Given the description of an element on the screen output the (x, y) to click on. 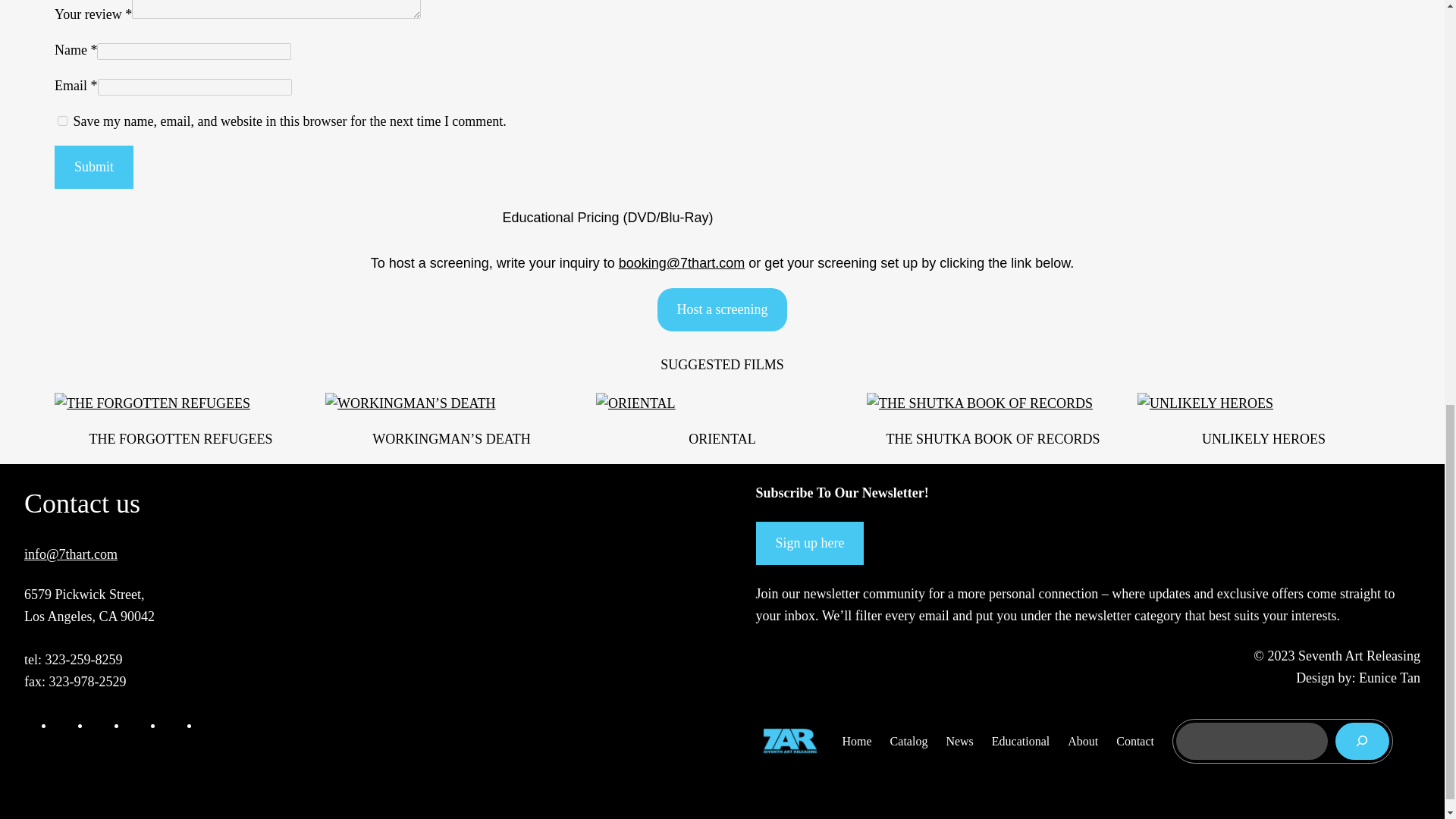
TikTok (209, 724)
ORIENTAL (721, 438)
LinkedIn (136, 724)
Host a screening (722, 309)
Facebook (63, 724)
THE SHUTKA BOOK OF RECORDS (992, 438)
yes (62, 121)
THE FORGOTTEN REFUGEES (180, 438)
Vimeo (172, 724)
Submit (94, 167)
Instagram (99, 724)
Sign up here (809, 543)
UNLIKELY HEROES (1263, 438)
Submit (94, 167)
